Given the description of an element on the screen output the (x, y) to click on. 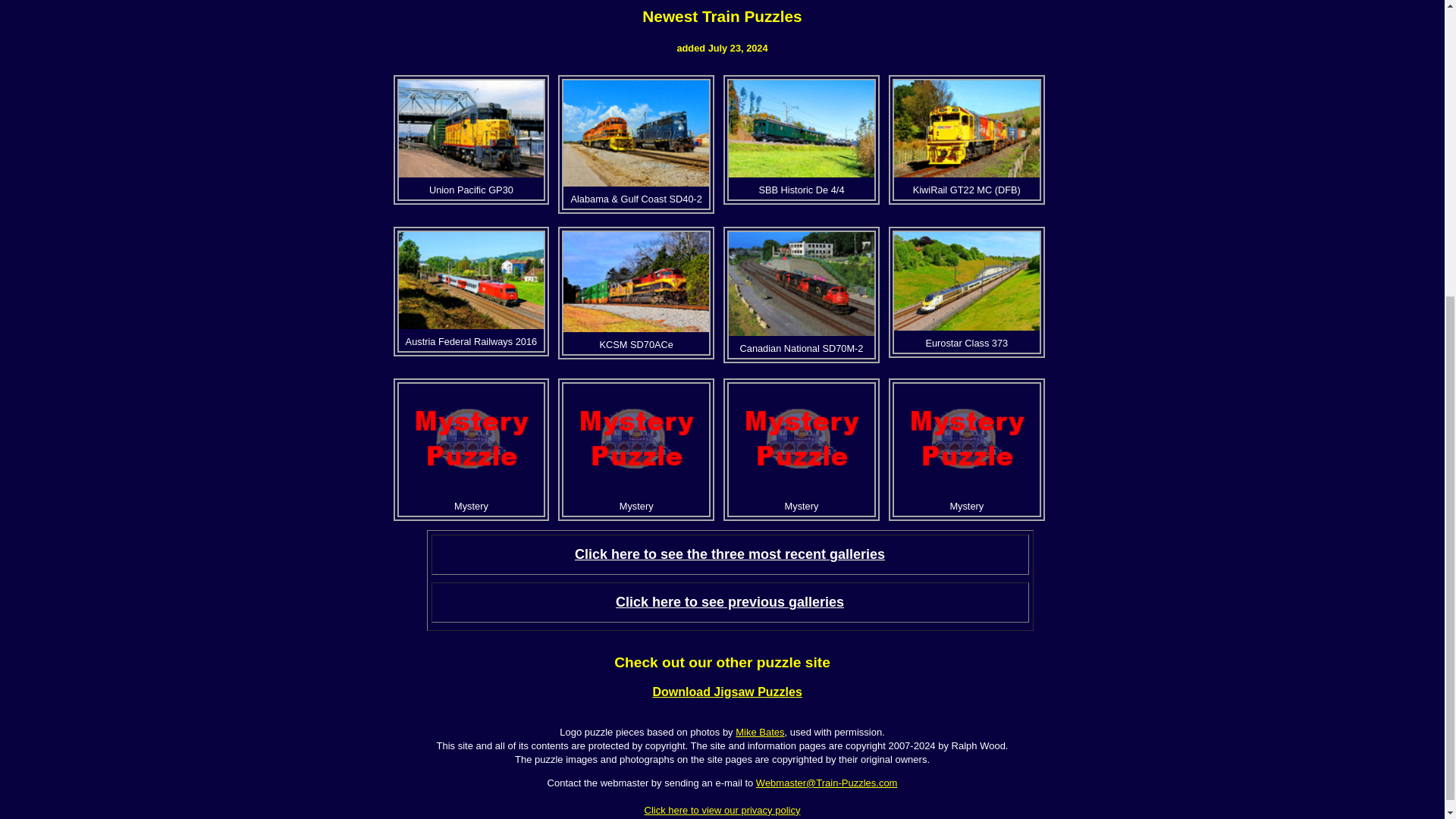
Mike Bates (759, 731)
Click here to view our privacy policy (722, 809)
Click here to see previous galleries (729, 601)
Download Jigsaw Puzzles (727, 691)
Click here to see the three most recent galleries (730, 554)
